Given the description of an element on the screen output the (x, y) to click on. 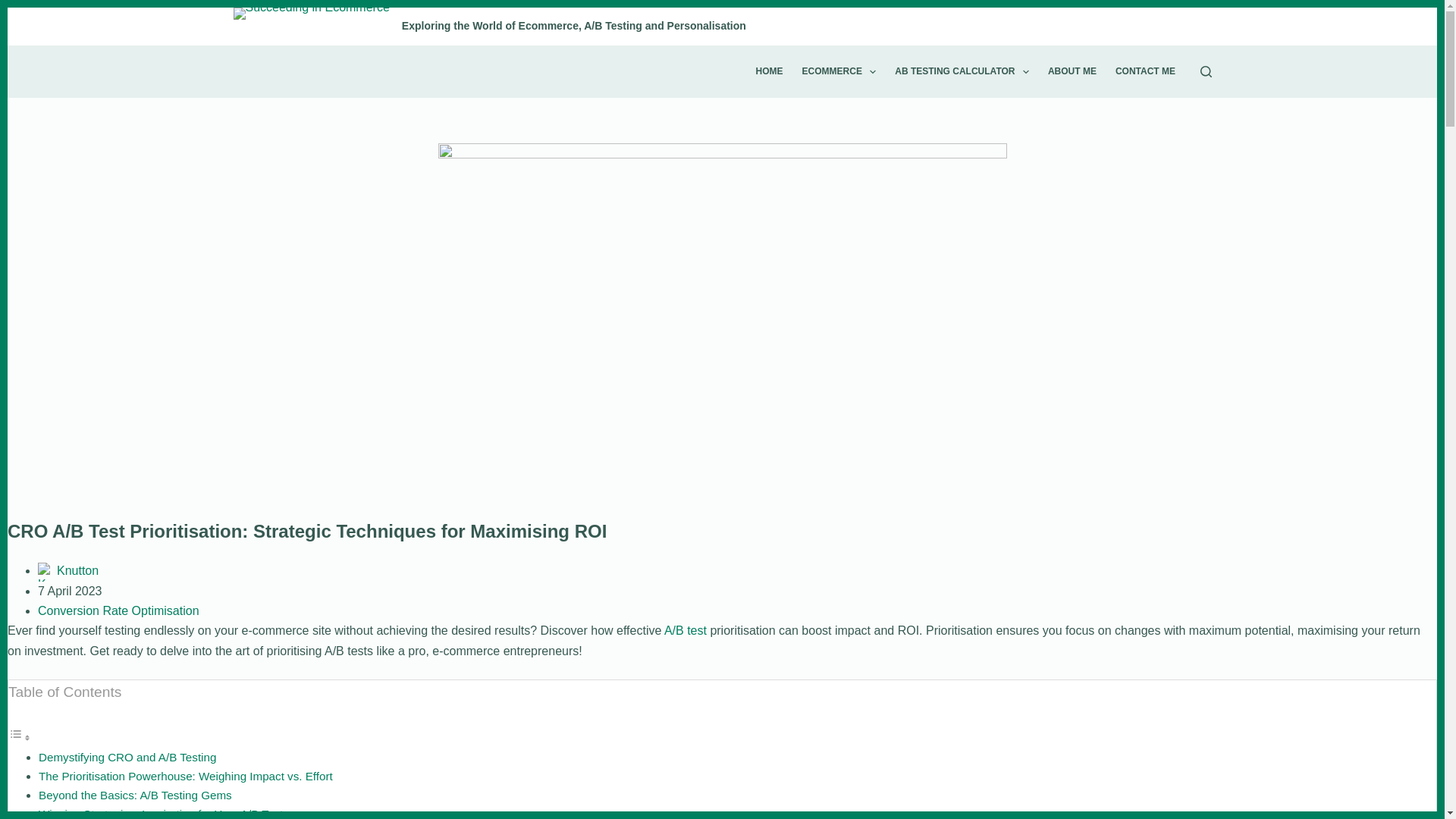
Skip to content (15, 7)
ECOMMERCE (838, 71)
The Prioritisation Powerhouse: Weighing Impact vs. Effort (186, 775)
Posts by Knutton (77, 570)
AB TESTING CALCULATOR (962, 71)
CONTACT ME (1145, 71)
ABOUT ME (1071, 71)
